Given the description of an element on the screen output the (x, y) to click on. 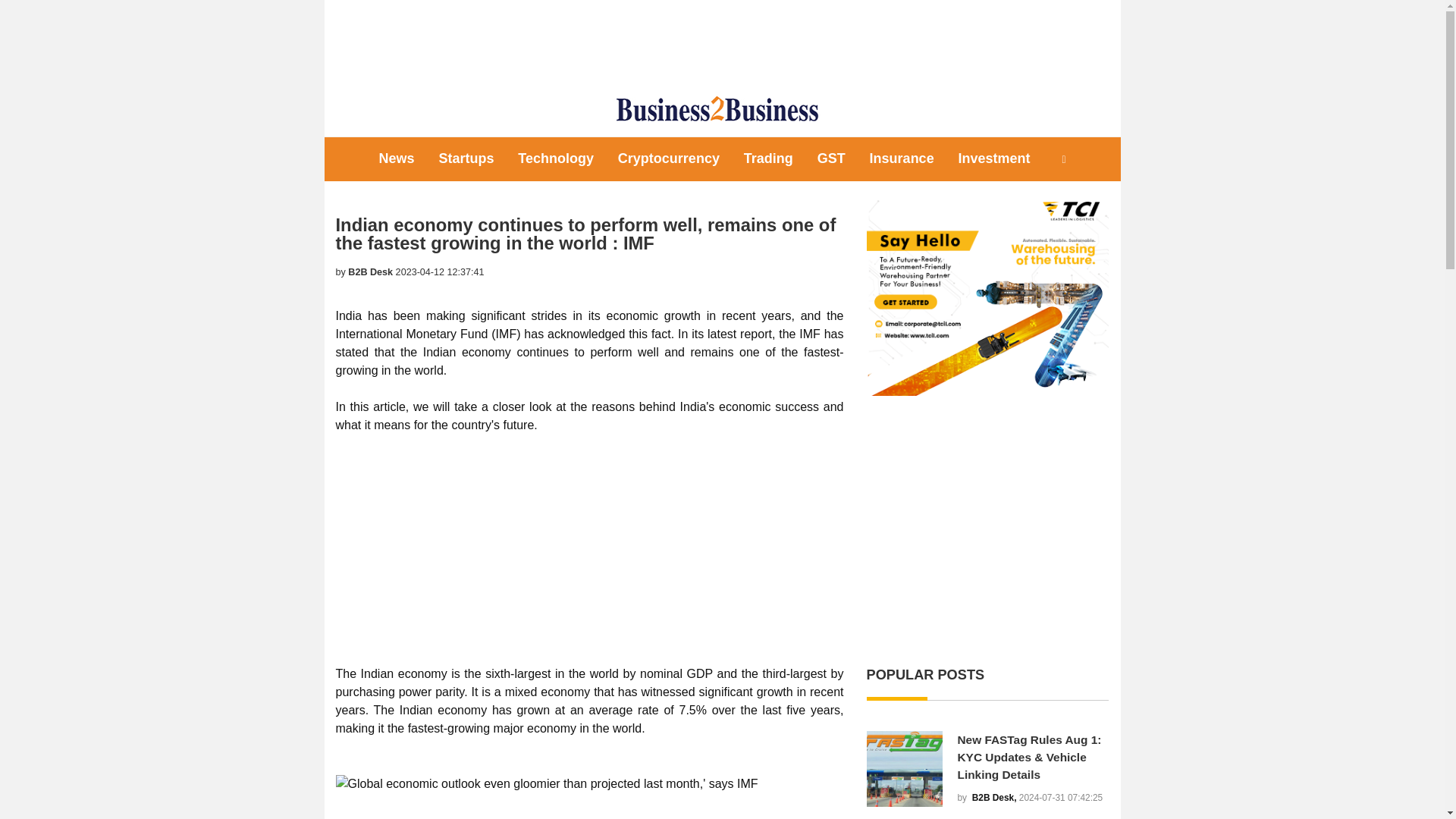
Startups (465, 158)
News (396, 158)
Investment (994, 158)
GST (831, 158)
Advertisement (721, 41)
Advertisement (987, 529)
Cryptocurrency (668, 158)
B2B Desk (370, 272)
Technology (555, 158)
Trading (768, 158)
Advertisement (588, 540)
Insurance (901, 158)
